Given the description of an element on the screen output the (x, y) to click on. 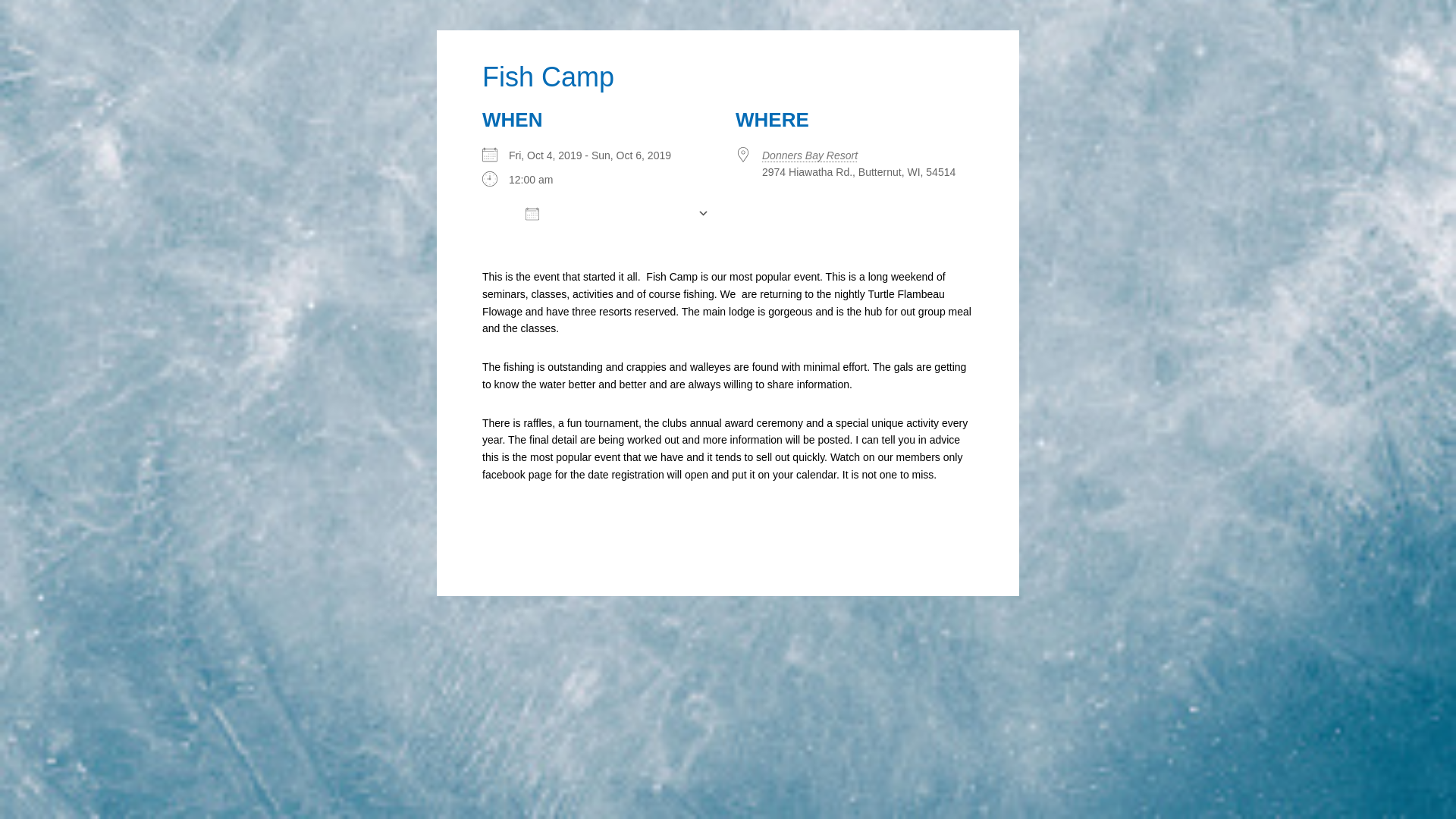
Google Calendar (822, 236)
Donners Bay Resort (809, 155)
Download ICS (593, 236)
ADD TO CALENDAR (600, 213)
